Given the description of an element on the screen output the (x, y) to click on. 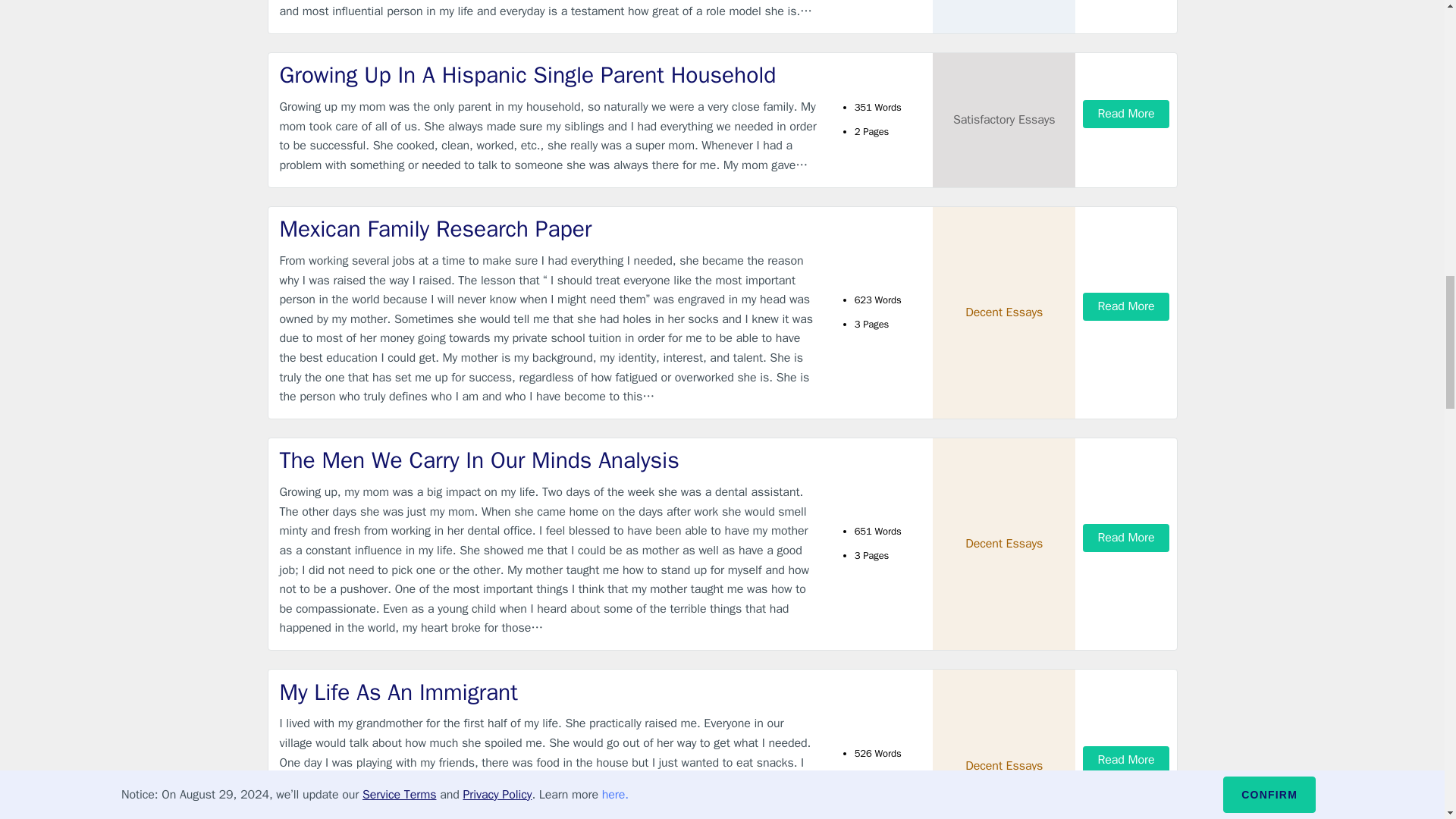
Growing Up In A Hispanic Single Parent Household (548, 74)
The Men We Carry In Our Minds Analysis (548, 460)
My Life As An Immigrant (548, 692)
Read More (1126, 306)
Read More (1126, 538)
Read More (1126, 759)
Mexican Family Research Paper (548, 228)
Read More (1126, 113)
